Given the description of an element on the screen output the (x, y) to click on. 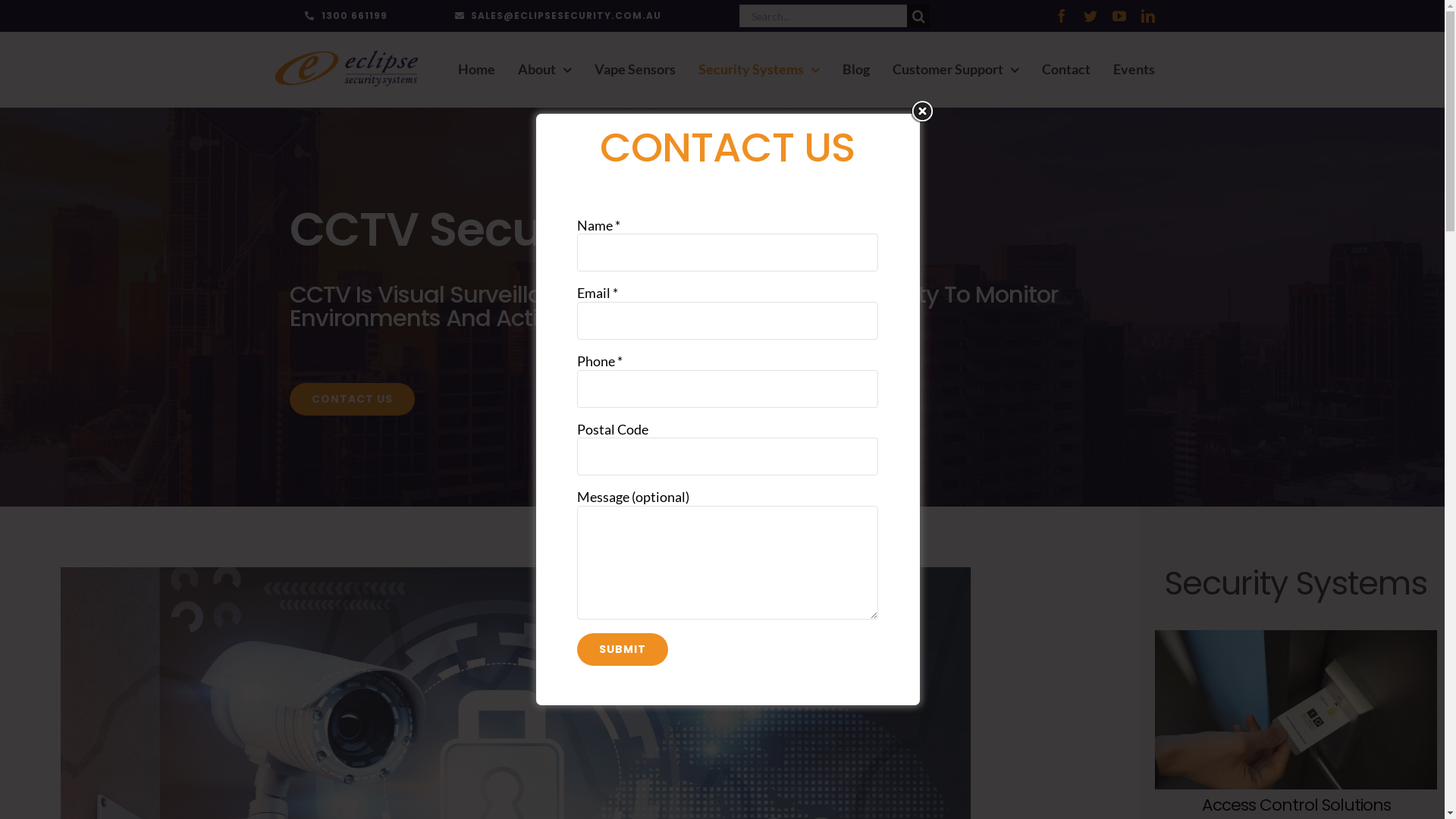
About Element type: text (544, 69)
Vape Sensors Element type: text (634, 69)
Blog Element type: text (855, 69)
Submit Element type: text (622, 649)
Events Element type: text (1133, 69)
SALES@ECLIPSESECURITY.COM.AU Element type: text (557, 15)
Security Systems Element type: text (758, 69)
Contact Element type: text (1065, 69)
Home Element type: text (476, 69)
Close Element type: hover (921, 111)
CONTACT US Element type: text (351, 398)
Customer Support Element type: text (955, 69)
1300 661199 Element type: text (345, 15)
